Given the description of an element on the screen output the (x, y) to click on. 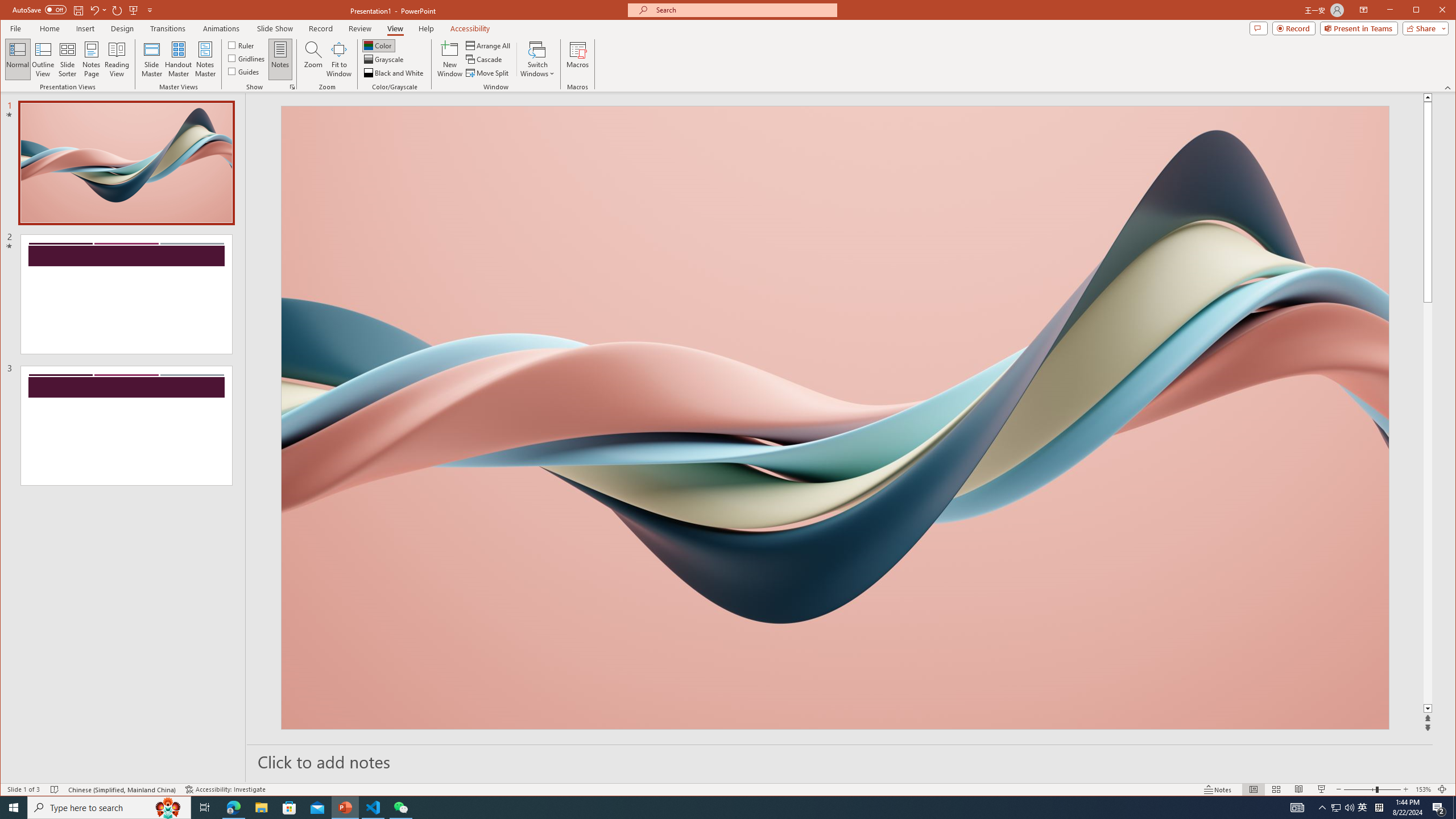
Slide Master (151, 59)
New Window (450, 59)
Fit to Window (338, 59)
